Given the description of an element on the screen output the (x, y) to click on. 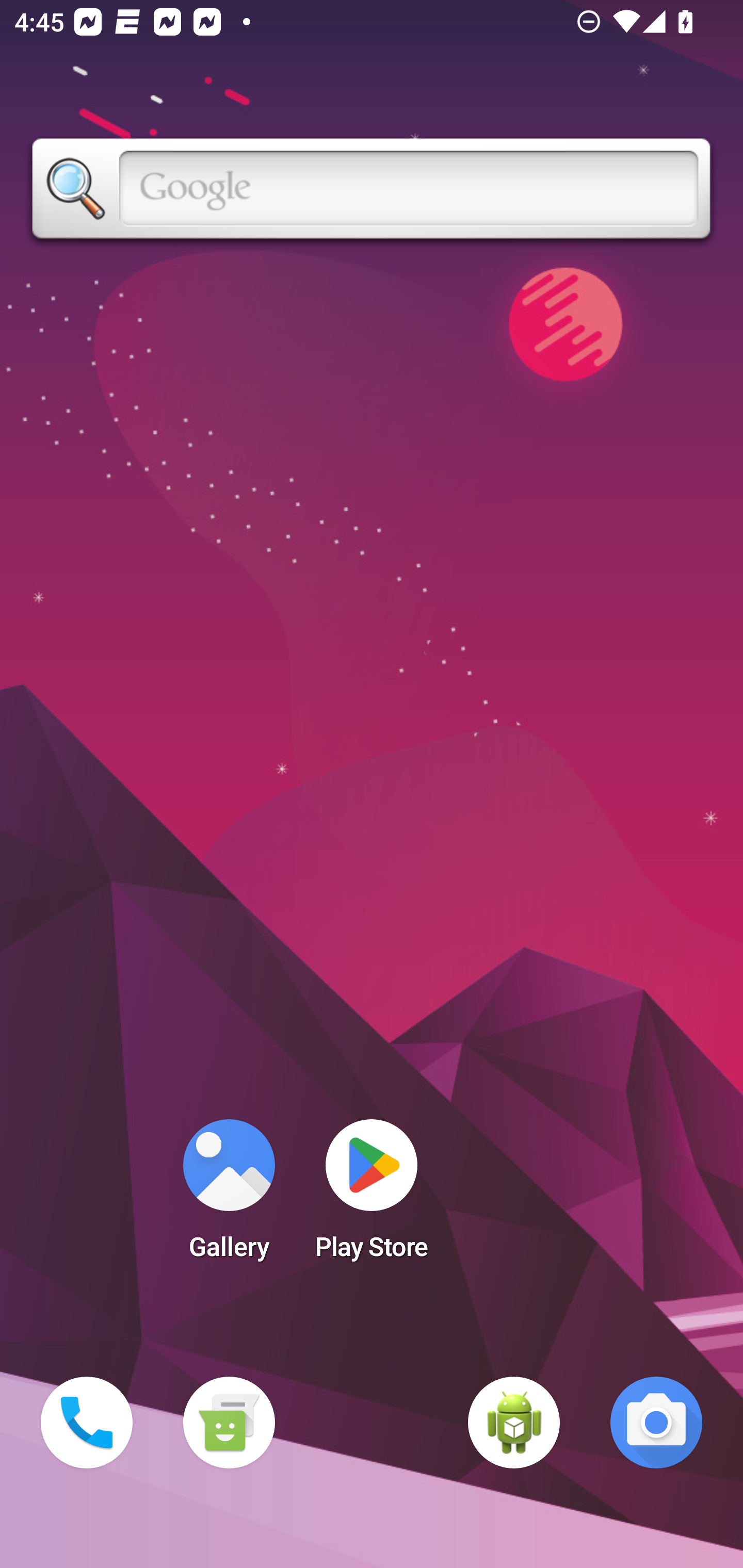
Gallery (228, 1195)
Play Store (371, 1195)
Phone (86, 1422)
Messaging (228, 1422)
WebView Browser Tester (513, 1422)
Camera (656, 1422)
